Given the description of an element on the screen output the (x, y) to click on. 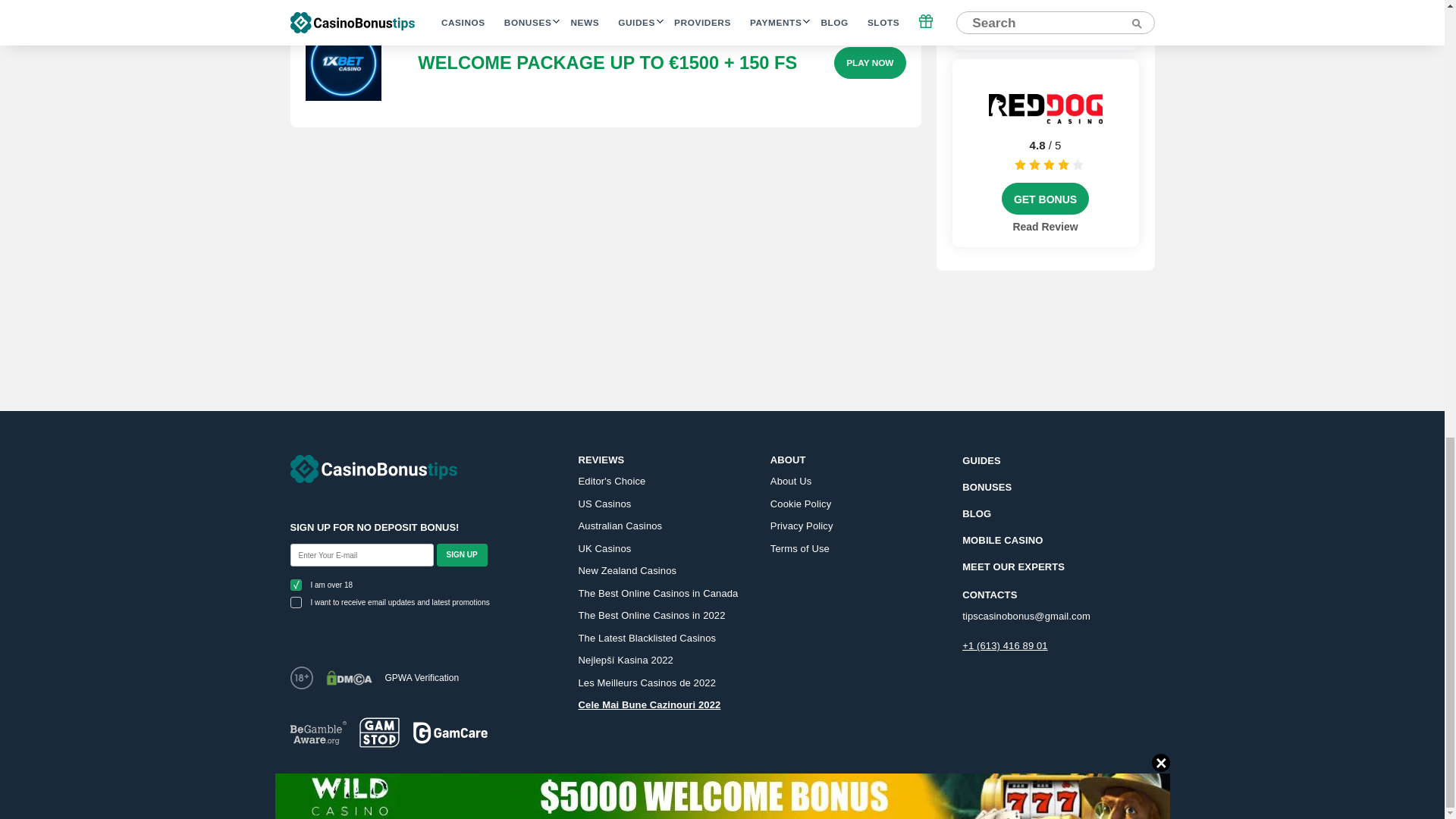
Game care (449, 732)
DMCA.com Protection Status (349, 677)
on (295, 602)
Gam stop (378, 732)
on (295, 584)
Be Gamble Aware (317, 732)
